Given the description of an element on the screen output the (x, y) to click on. 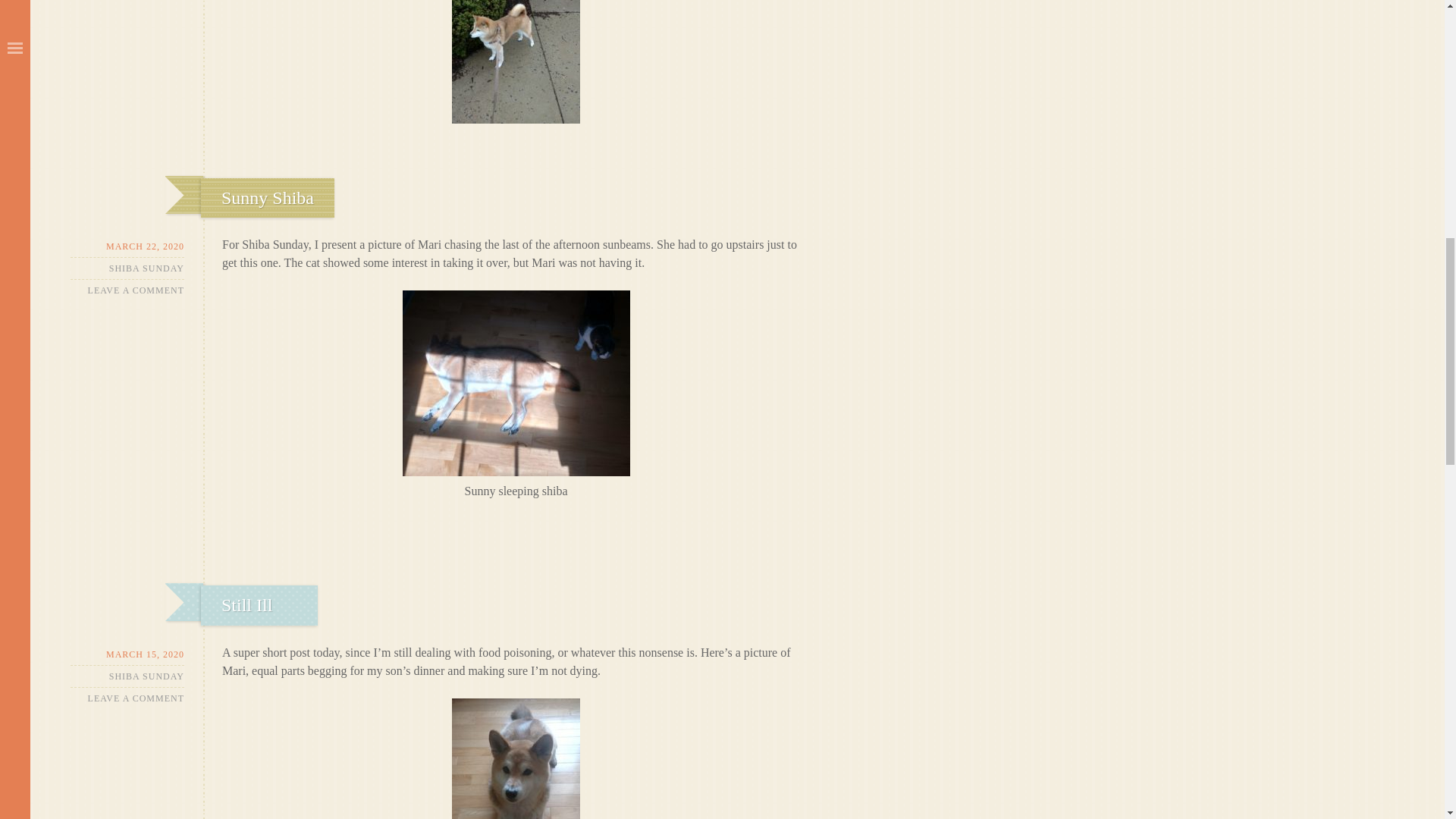
SHIBA SUNDAY (146, 268)
6:06 pm (126, 654)
LEAVE A COMMENT (135, 290)
Still Ill (246, 605)
MARCH 22, 2020 (126, 246)
Sunny Shiba (267, 198)
SHIBA SUNDAY (146, 676)
4:28 pm (126, 246)
LEAVE A COMMENT (135, 698)
MARCH 15, 2020 (126, 654)
